Given the description of an element on the screen output the (x, y) to click on. 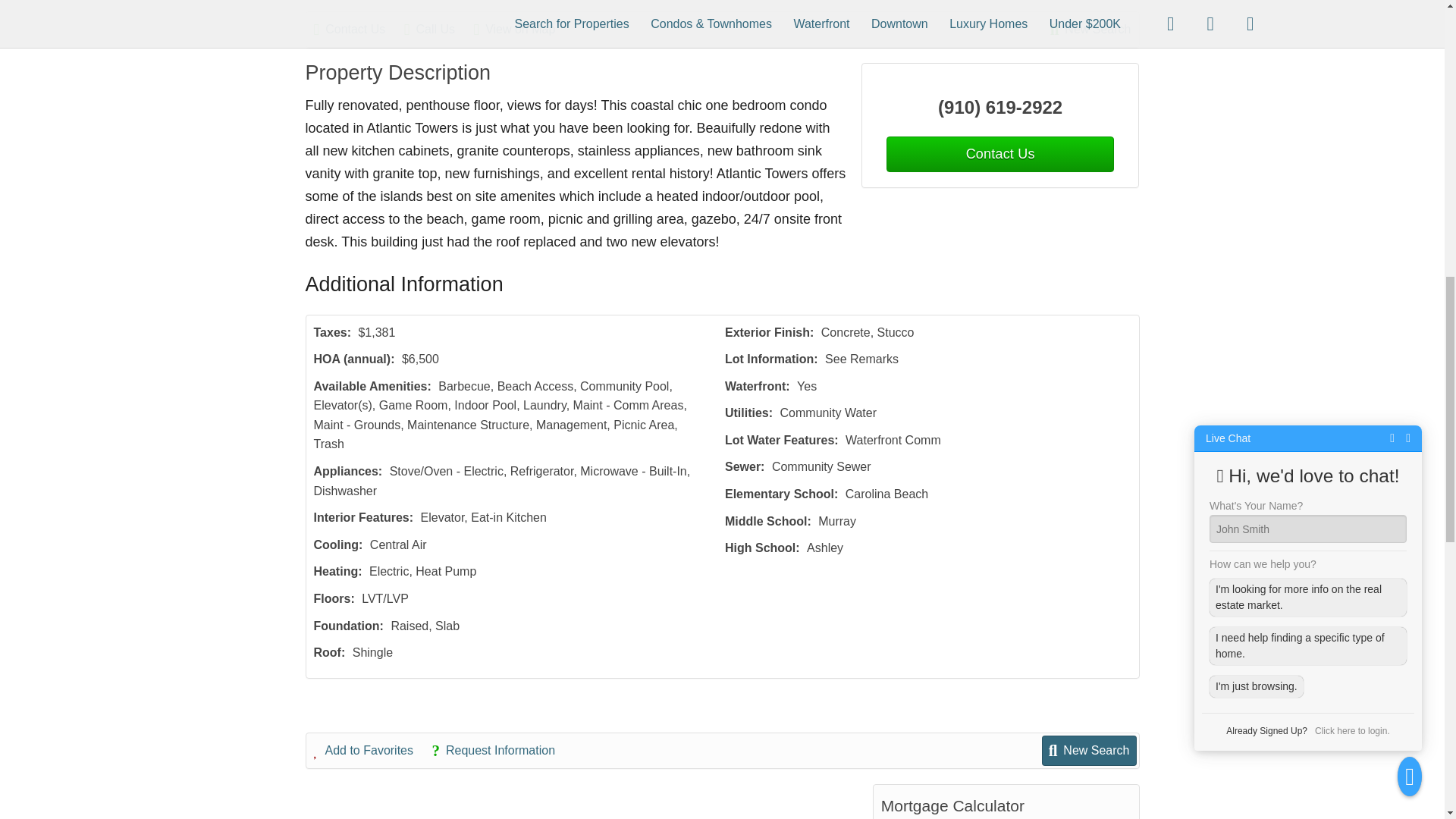
View on Map (521, 29)
Contact Us (357, 29)
New Search (1090, 29)
Call Us (437, 29)
Contact Us (999, 153)
